Given the description of an element on the screen output the (x, y) to click on. 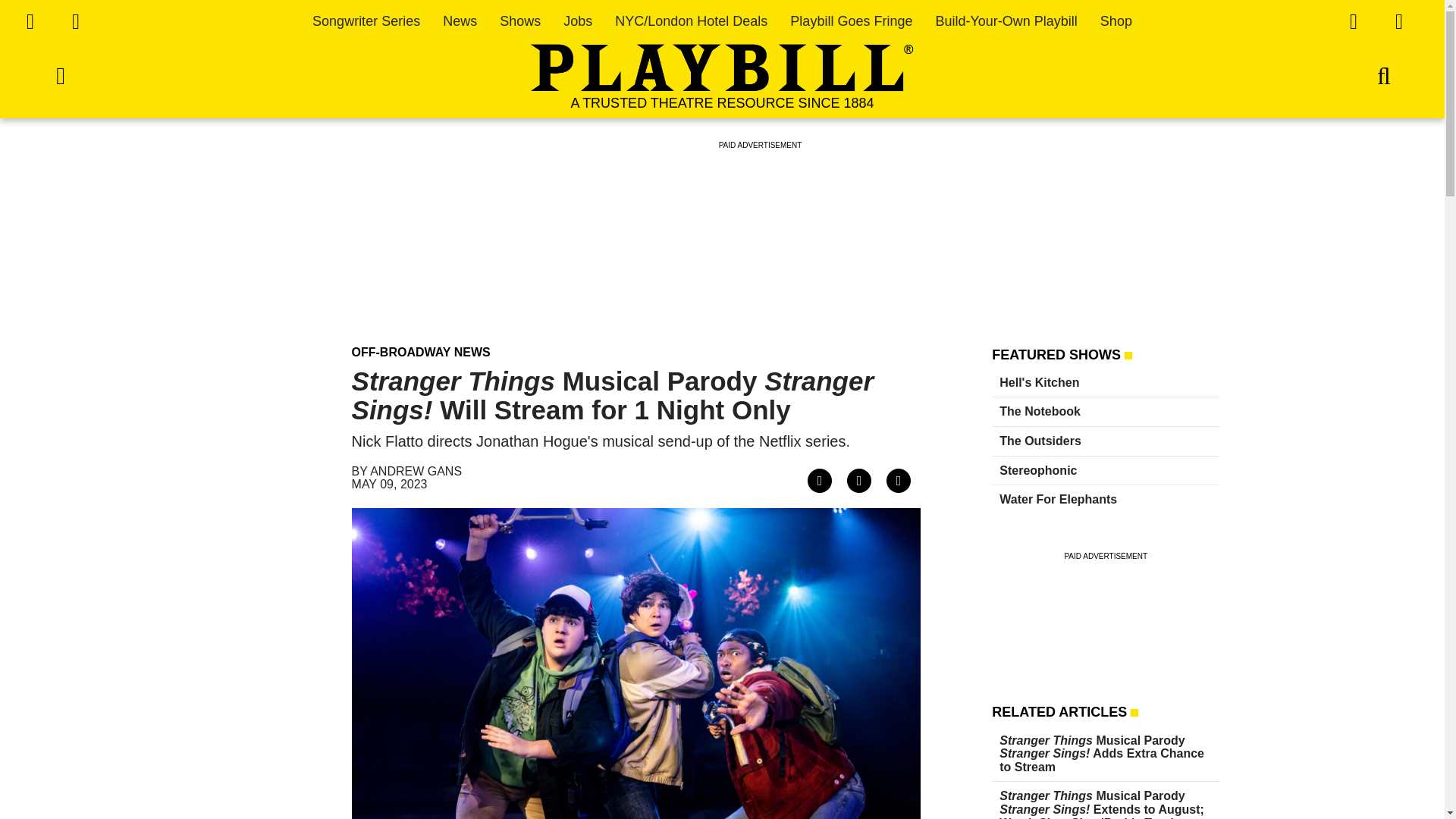
Playbill Goes Fringe (851, 20)
Shop (1116, 20)
Shows (519, 20)
News (459, 20)
Jobs (577, 20)
Songwriter Series (366, 20)
Build-Your-Own Playbill (1005, 20)
